Given the description of an element on the screen output the (x, y) to click on. 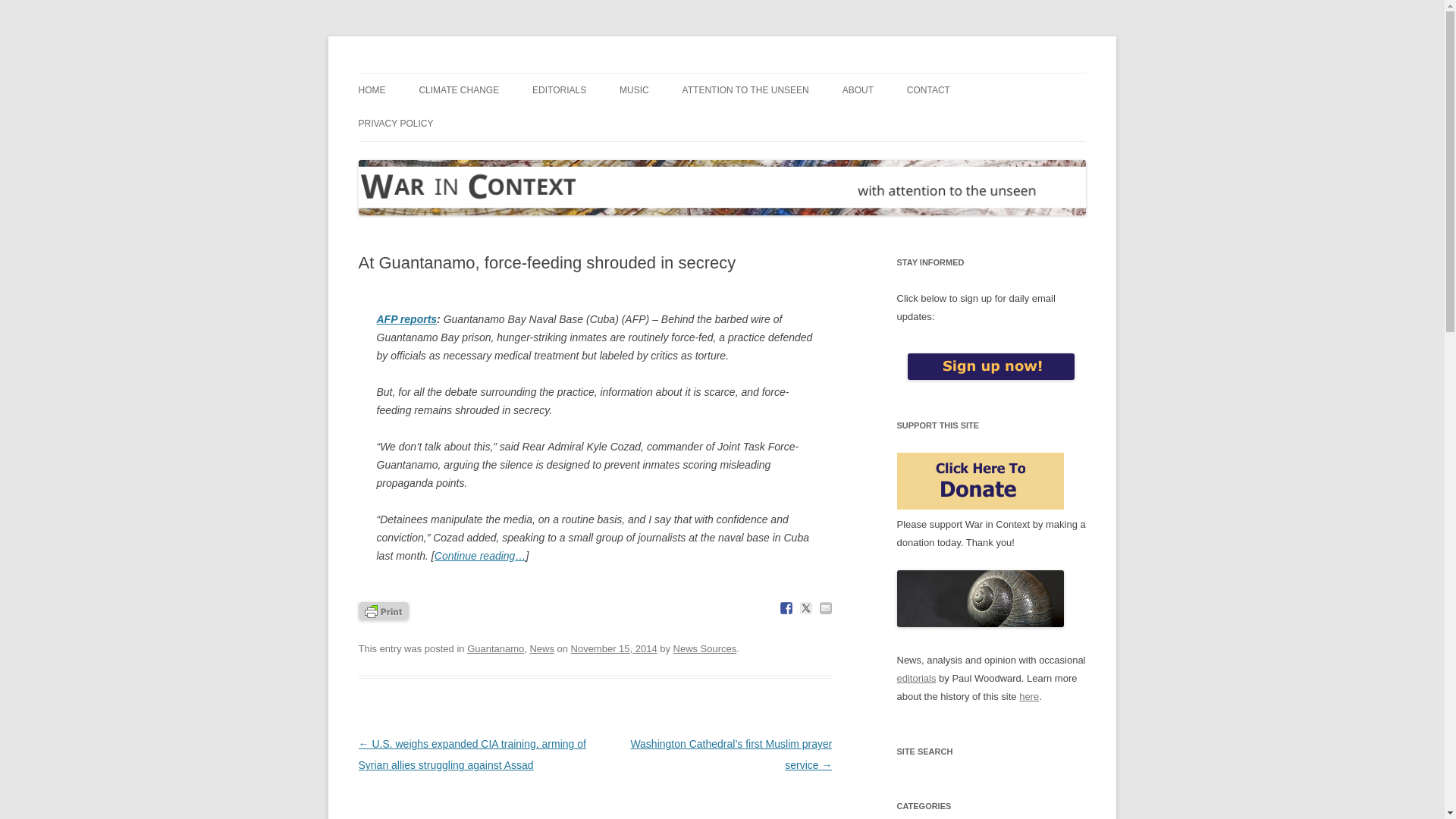
View all posts by News Sources (704, 648)
CLIMATE CHANGE (459, 90)
here (1029, 696)
editorials (916, 677)
EDITORIALS (559, 90)
News (541, 648)
News Sources (704, 648)
ATTENTION TO THE UNSEEN (745, 90)
Guantanamo (495, 648)
